Given the description of an element on the screen output the (x, y) to click on. 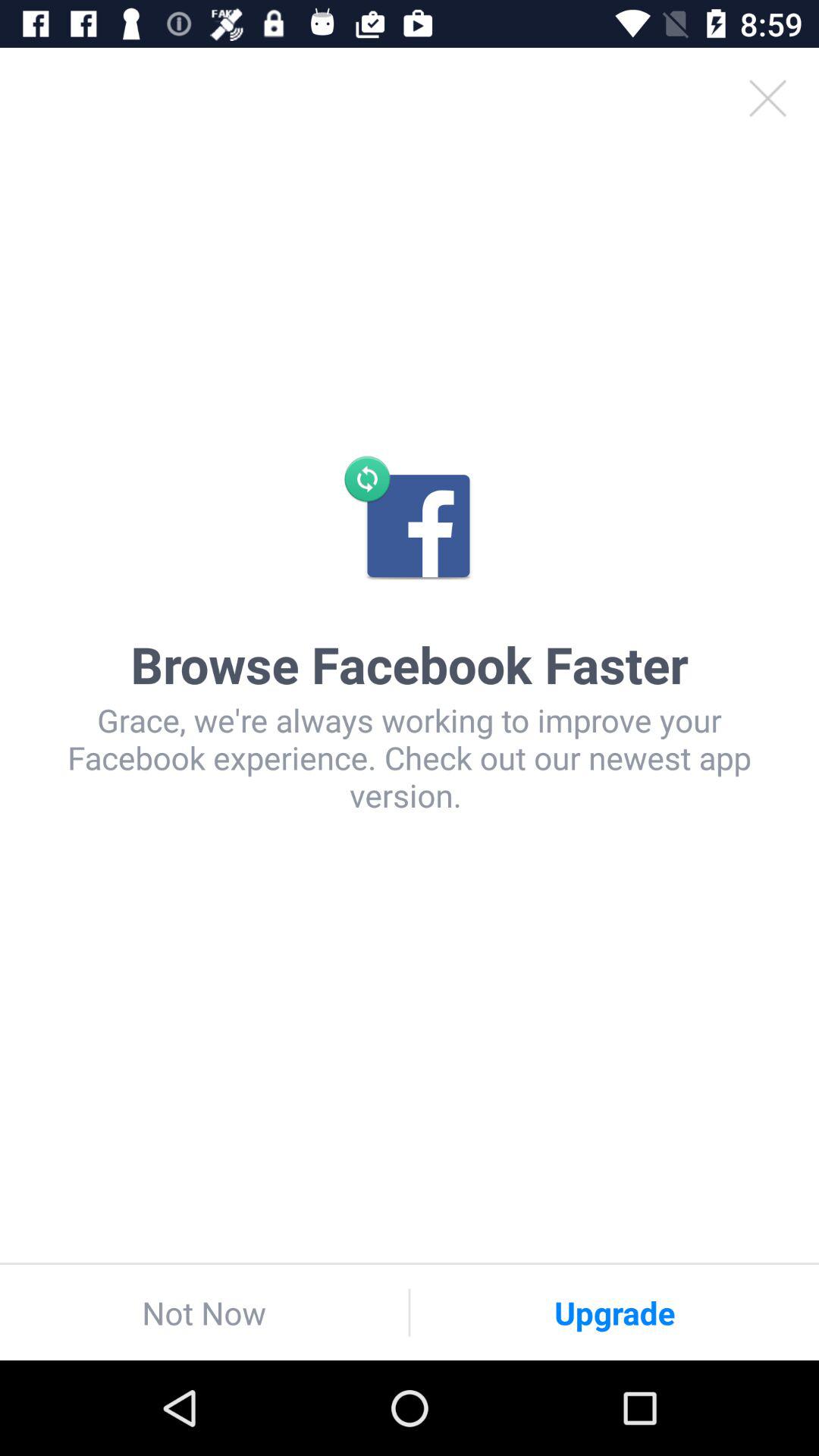
press the not now (204, 1312)
